Given the description of an element on the screen output the (x, y) to click on. 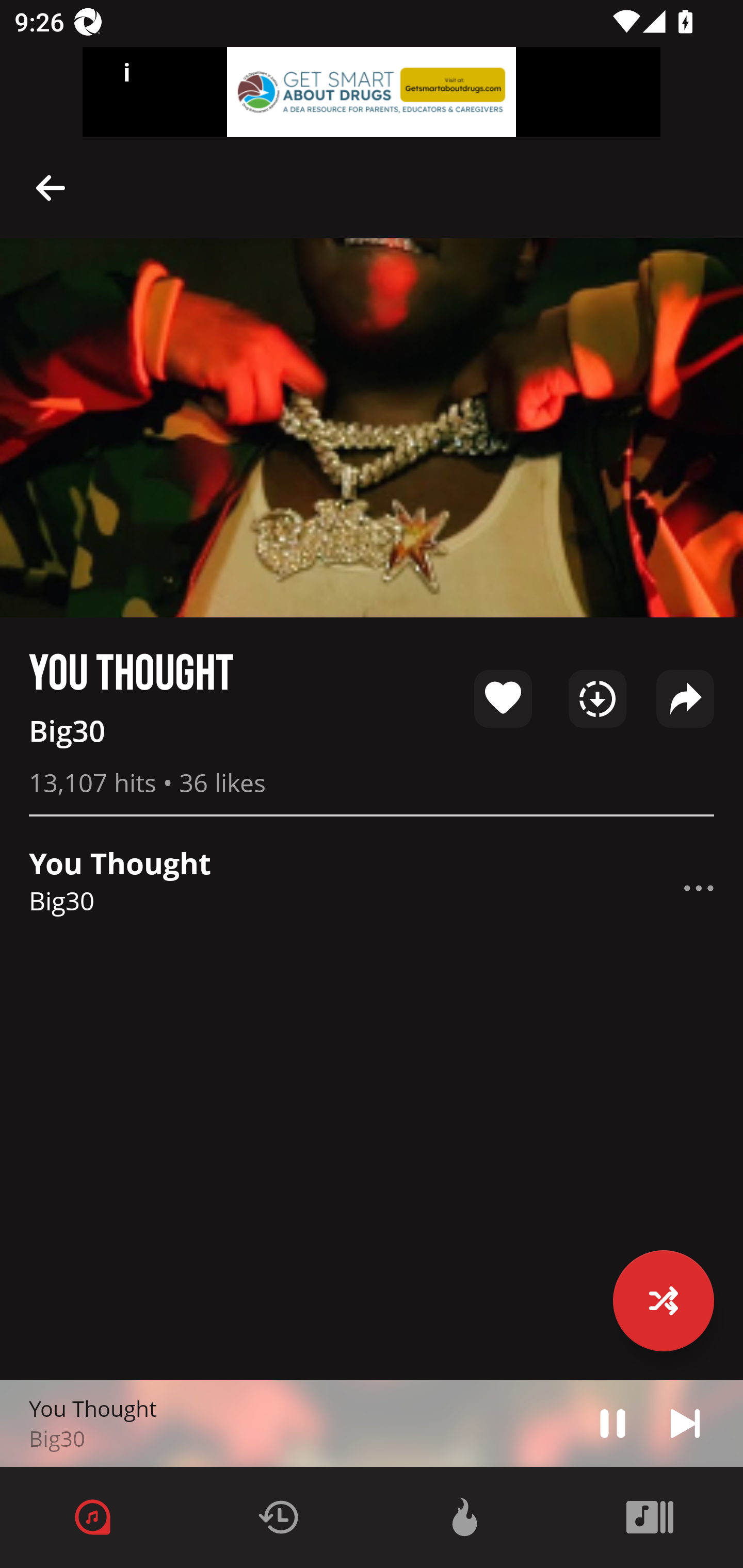
Description (50, 187)
You Thought Big30 Description (371, 888)
Description (698, 888)
You Thought Big30 Description Description (371, 1423)
Description (612, 1422)
Description (685, 1422)
